Given the description of an element on the screen output the (x, y) to click on. 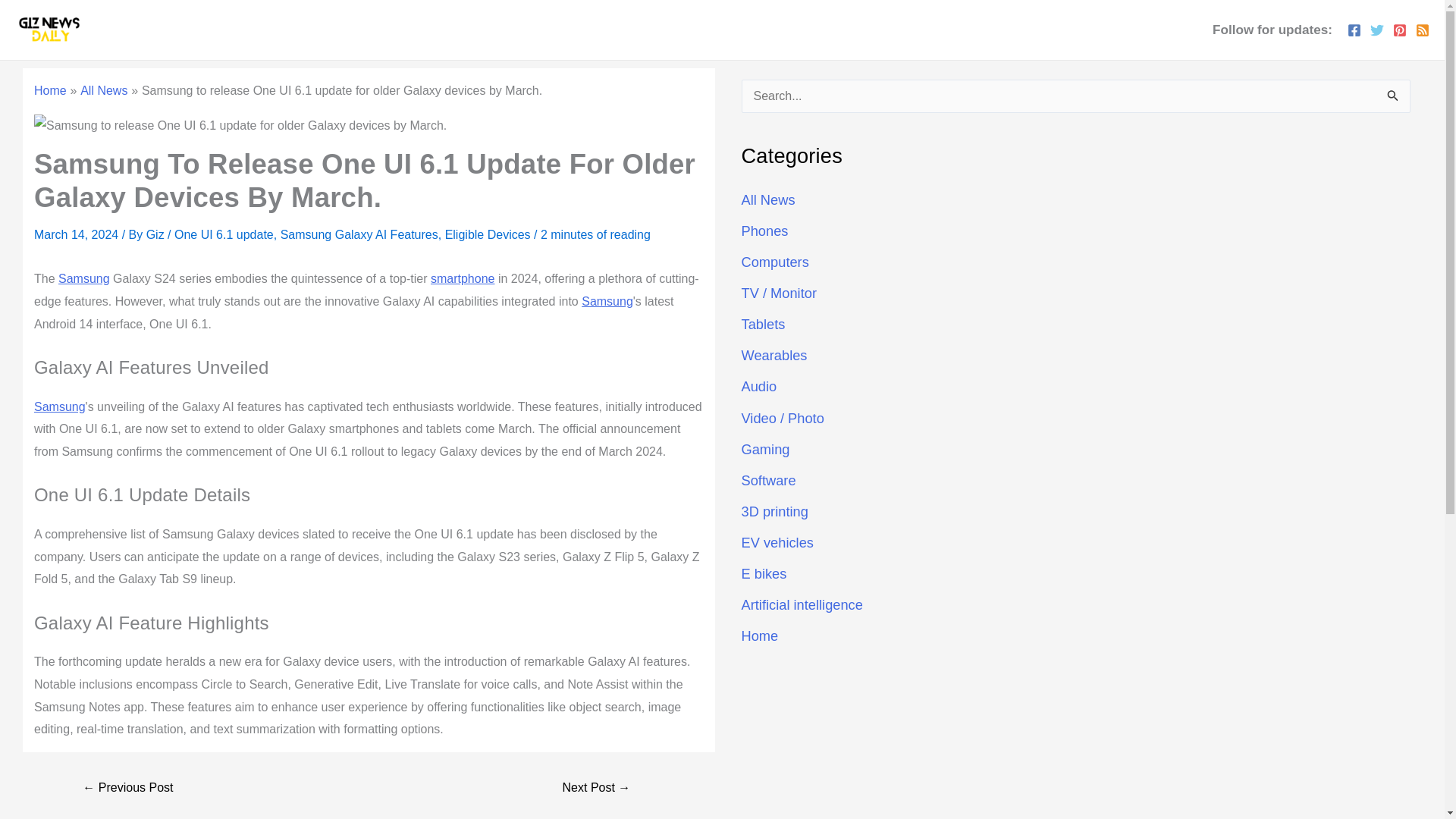
View all posts by Giz (157, 234)
Search (1392, 100)
Samsung Galaxy AI Features (359, 234)
Vivo V30e Snapdragon 6 Gen 1 Geekbench Performance (595, 787)
Giz (157, 234)
Home (49, 90)
One UI 6.1 update (223, 234)
Samsung Galaxy Tab S9 Receives Significant US Discount (127, 787)
All News (104, 90)
Search (1392, 100)
